Given the description of an element on the screen output the (x, y) to click on. 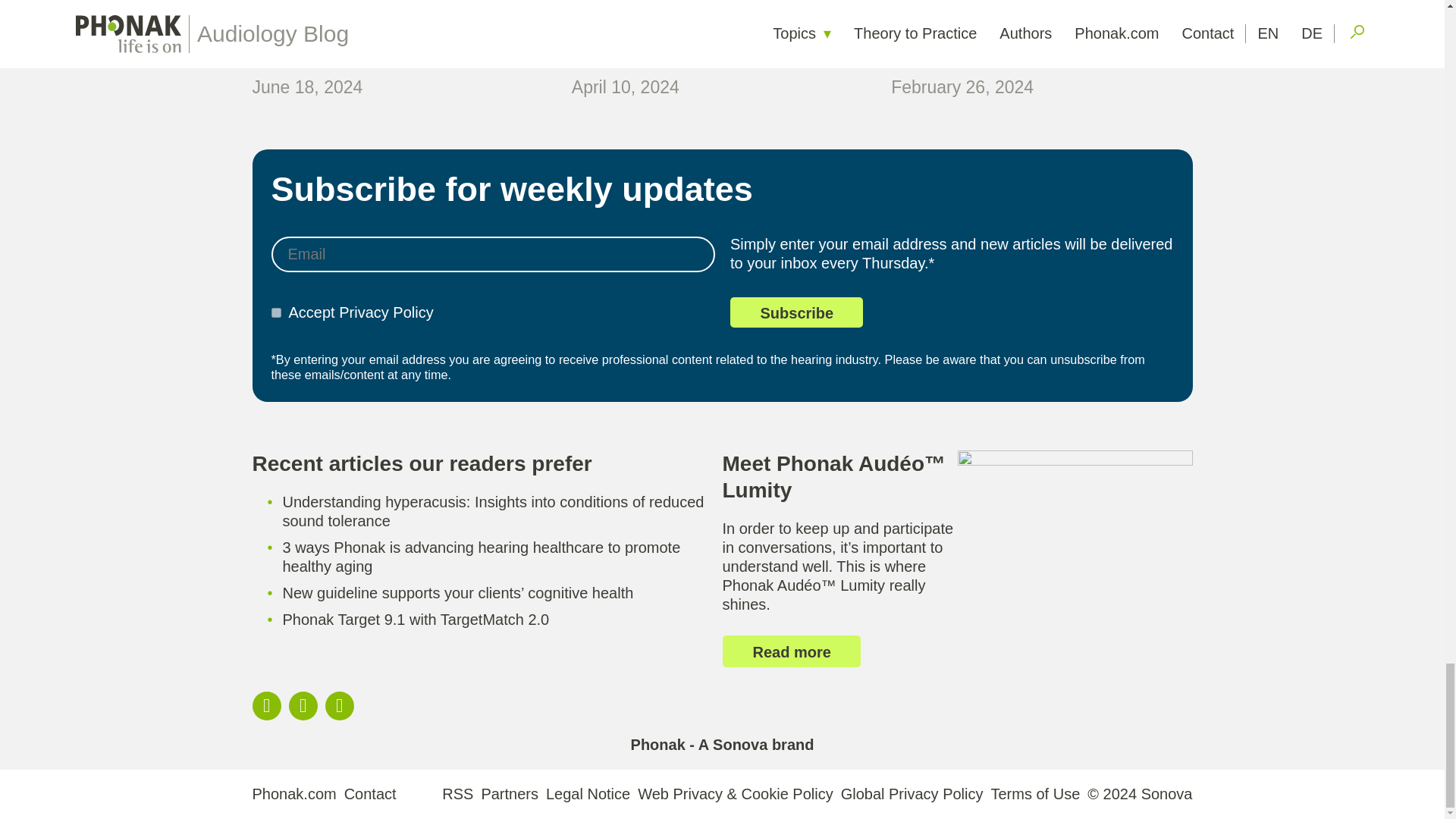
on (275, 312)
